Given the description of an element on the screen output the (x, y) to click on. 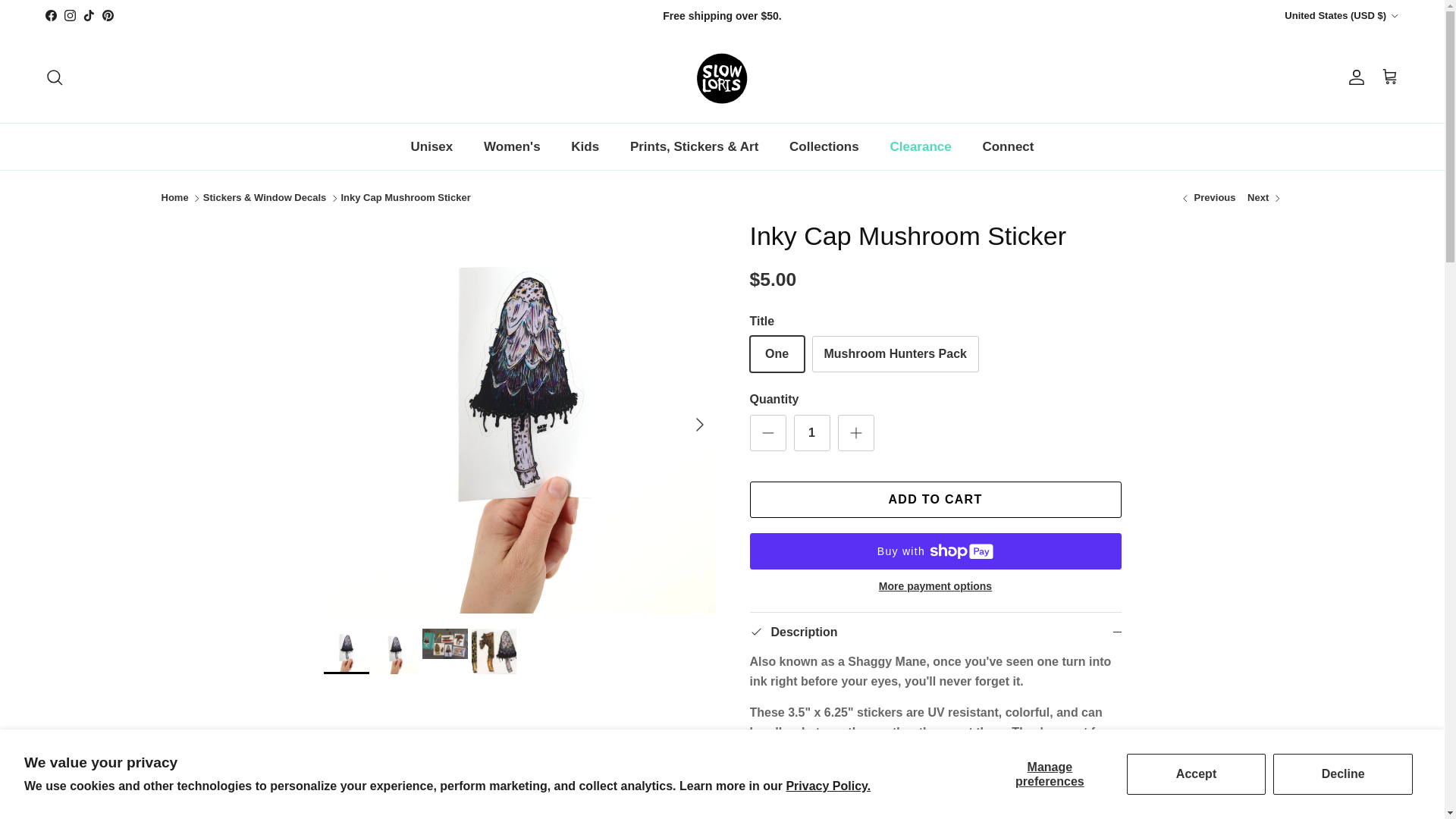
Slow Loris on Pinterest (107, 15)
Pinterest (107, 15)
Facebook (50, 15)
Unisex (432, 146)
Slow Loris on Instagram (69, 15)
Kids (584, 146)
Mushroom Hunter Sticker (1264, 197)
Search (54, 76)
TikTok (88, 15)
Slow Loris on TikTok (88, 15)
Decline (1342, 773)
Slow Loris (722, 76)
Slow Loris on Facebook (50, 15)
Account (1352, 76)
Chanterelle Mushrooms Sticker (1206, 197)
